Given the description of an element on the screen output the (x, y) to click on. 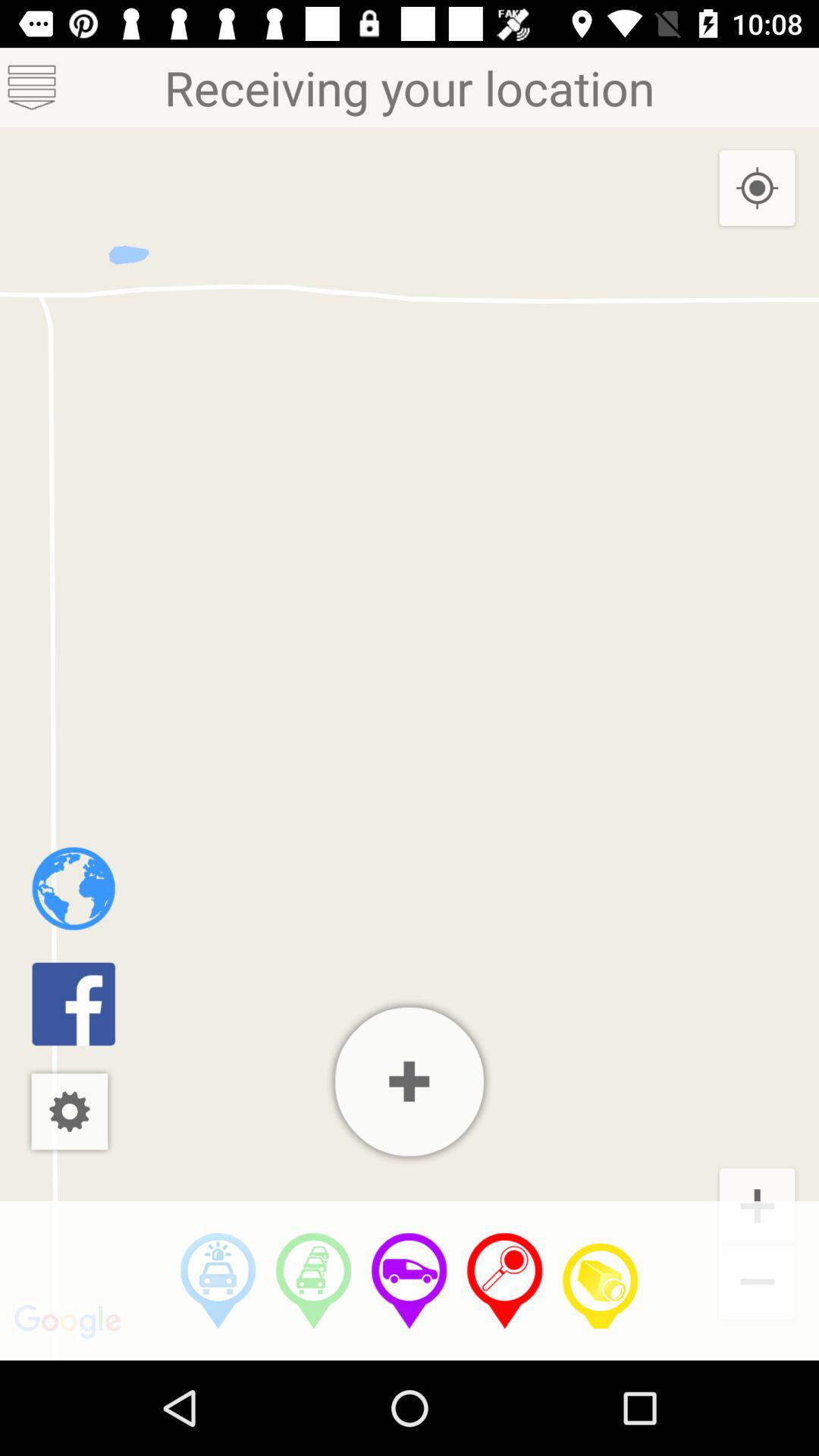
button show location of vehicles (409, 1280)
